Given the description of an element on the screen output the (x, y) to click on. 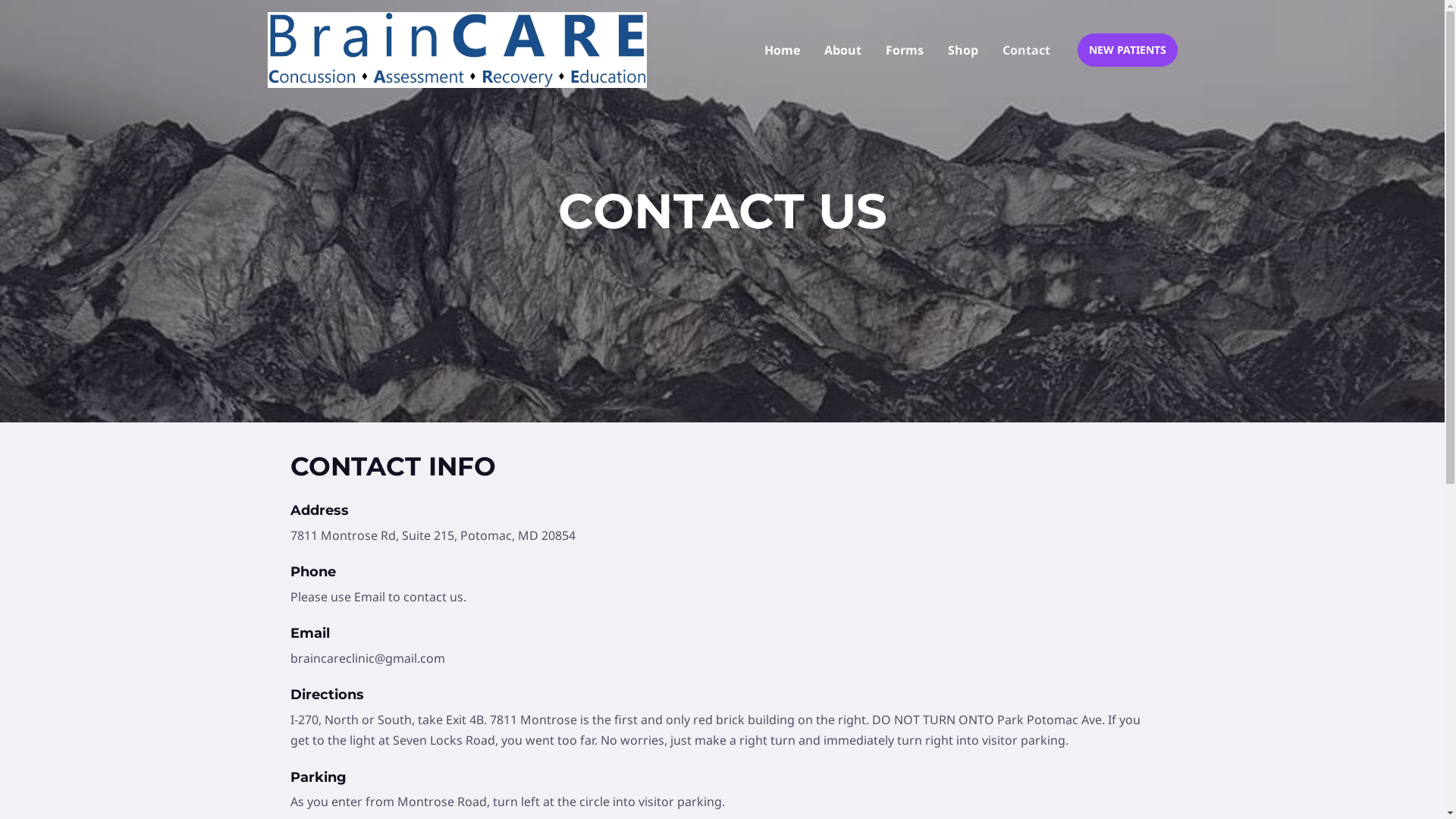
Forms Element type: text (904, 49)
About Element type: text (841, 49)
Contact Element type: text (1026, 49)
NEW PATIENTS Element type: text (1126, 49)
Shop Element type: text (962, 49)
Home Element type: text (782, 49)
